Given the description of an element on the screen output the (x, y) to click on. 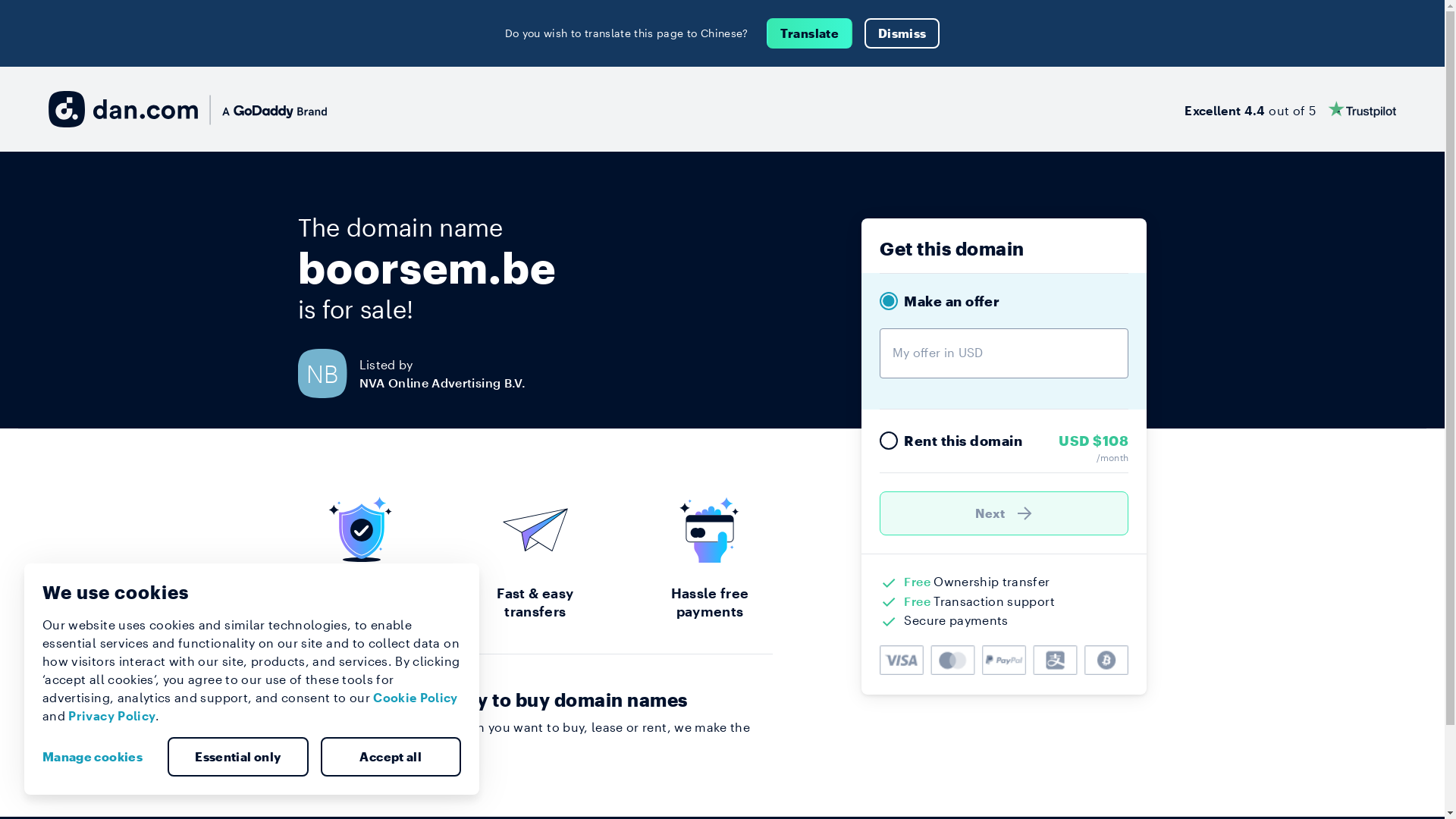
Manage cookies Element type: text (98, 756)
Excellent 4.4 out of 5 Element type: text (1290, 109)
Dismiss Element type: text (901, 33)
Next
) Element type: text (1003, 513)
Essential only Element type: text (237, 756)
Privacy Policy Element type: text (111, 715)
Translate Element type: text (809, 33)
Accept all Element type: text (390, 756)
Cookie Policy Element type: text (415, 697)
